Given the description of an element on the screen output the (x, y) to click on. 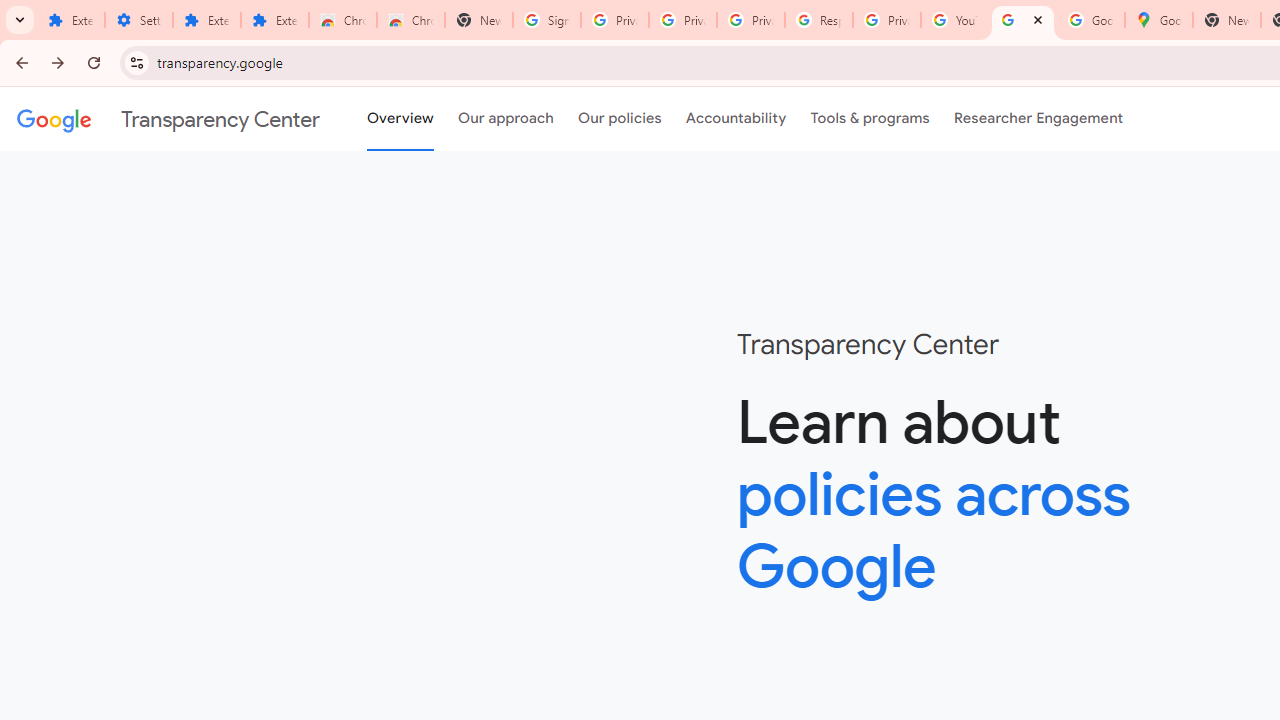
Accountability (735, 119)
Chrome Web Store (342, 20)
Tools & programs (869, 119)
New Tab (1226, 20)
Google Maps (1158, 20)
Extensions (206, 20)
Settings (138, 20)
Researcher Engagement (1038, 119)
